Given the description of an element on the screen output the (x, y) to click on. 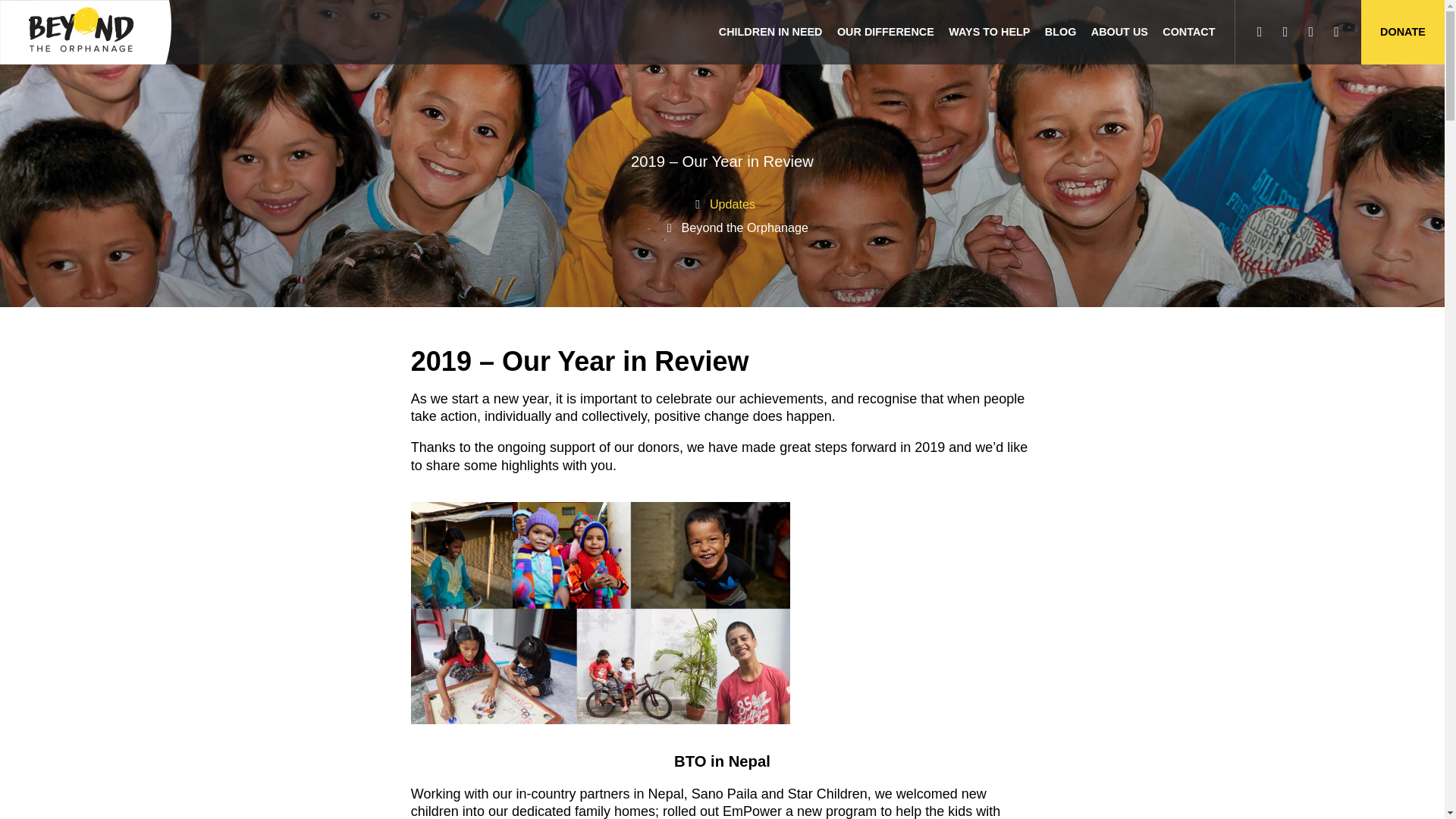
CHILDREN IN NEED (770, 32)
WAYS TO HELP (989, 32)
Updates (732, 203)
OUR DIFFERENCE (885, 32)
CONTACT (1189, 32)
ABOUT US (1120, 32)
